Given the description of an element on the screen output the (x, y) to click on. 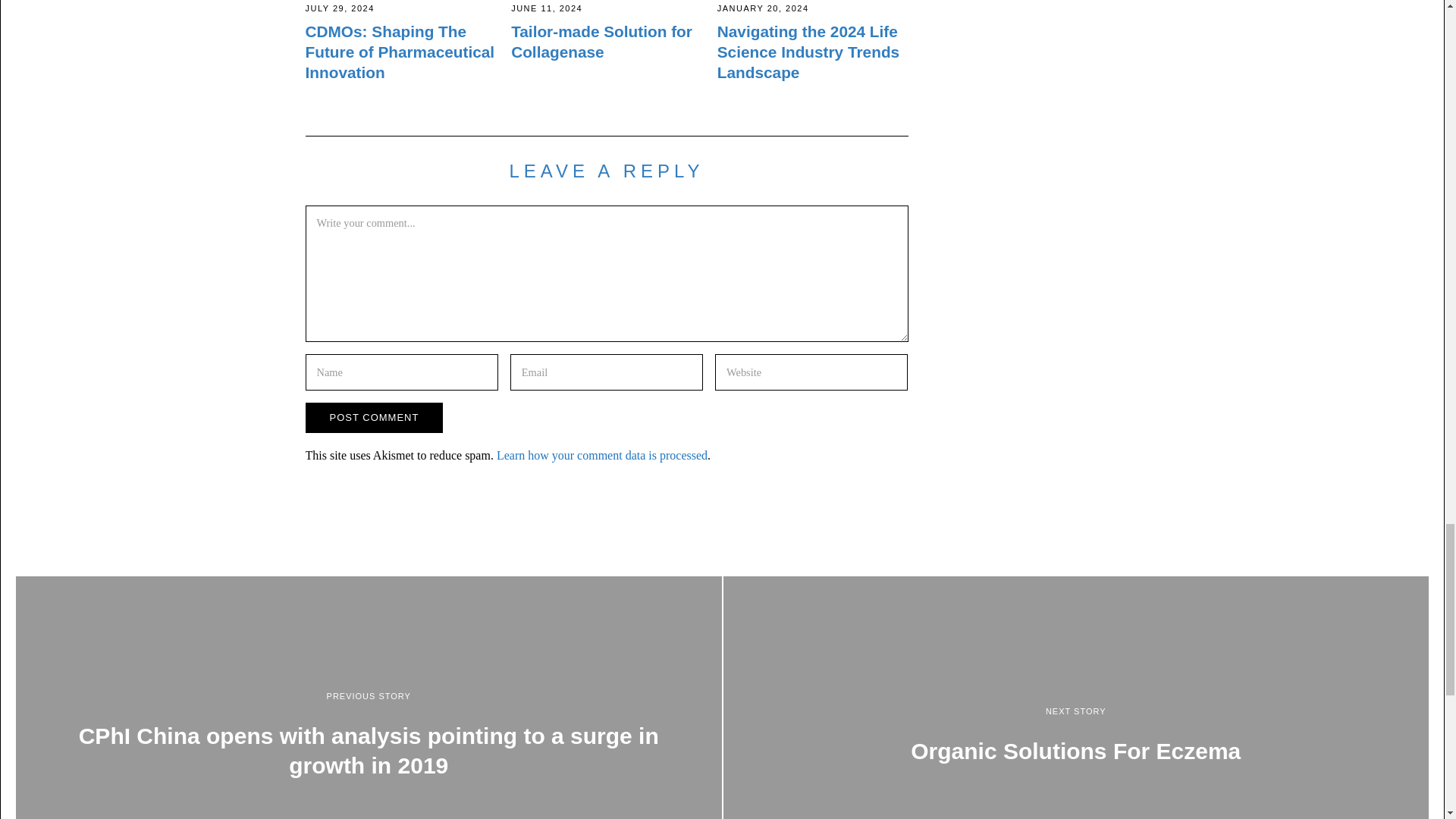
Learn how your comment data is processed (601, 454)
Navigating the 2024 Life Science Industry Trends Landscape (808, 51)
CDMOs: Shaping The Future of Pharmaceutical Innovation (399, 51)
Post Comment (373, 417)
Post Comment (373, 417)
Tailor-made Solution for Collagenase (602, 41)
